Given the description of an element on the screen output the (x, y) to click on. 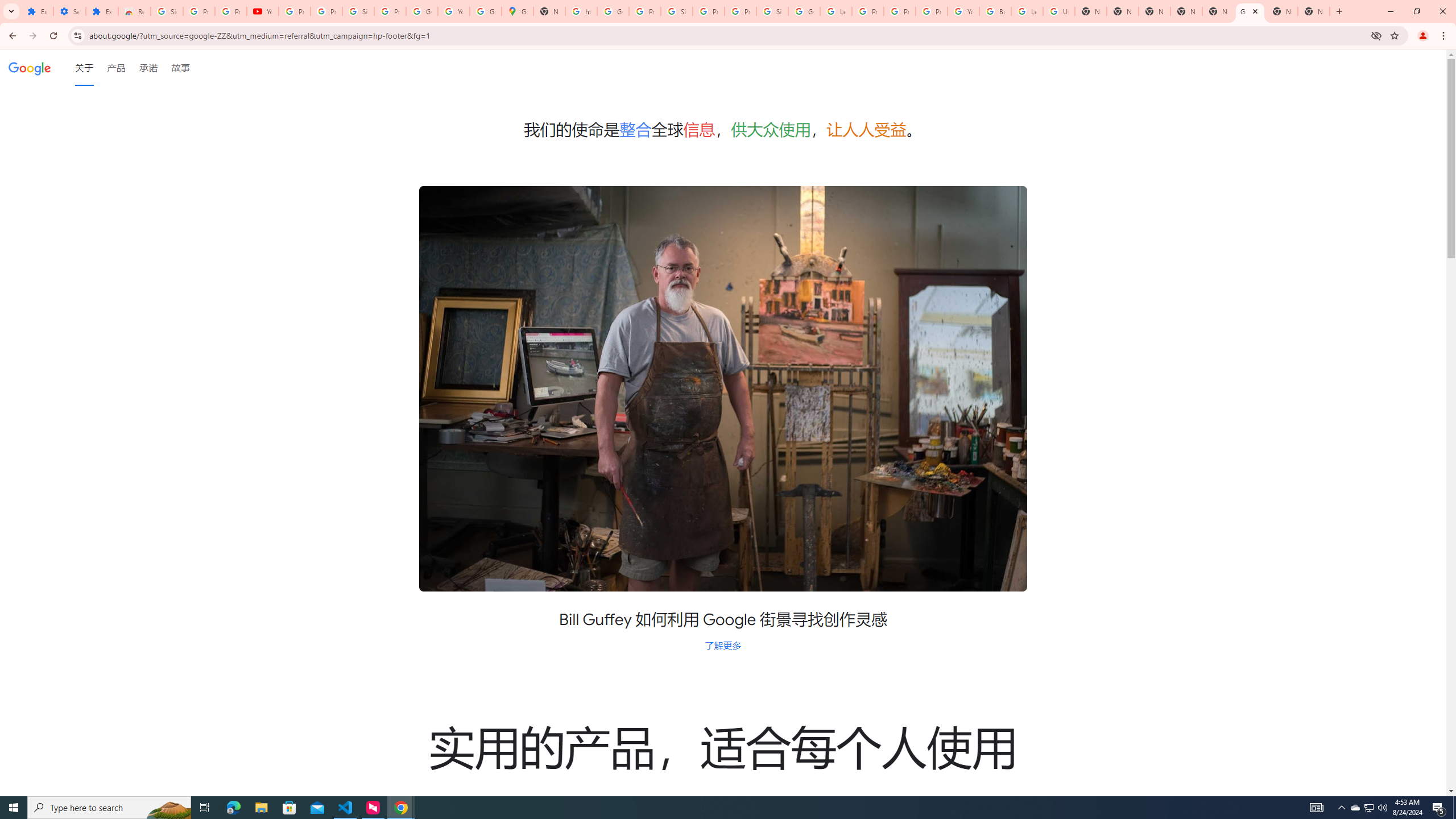
YouTube (963, 11)
Reviews: Helix Fruit Jump Arcade Game (134, 11)
YouTube (262, 11)
